Given the description of an element on the screen output the (x, y) to click on. 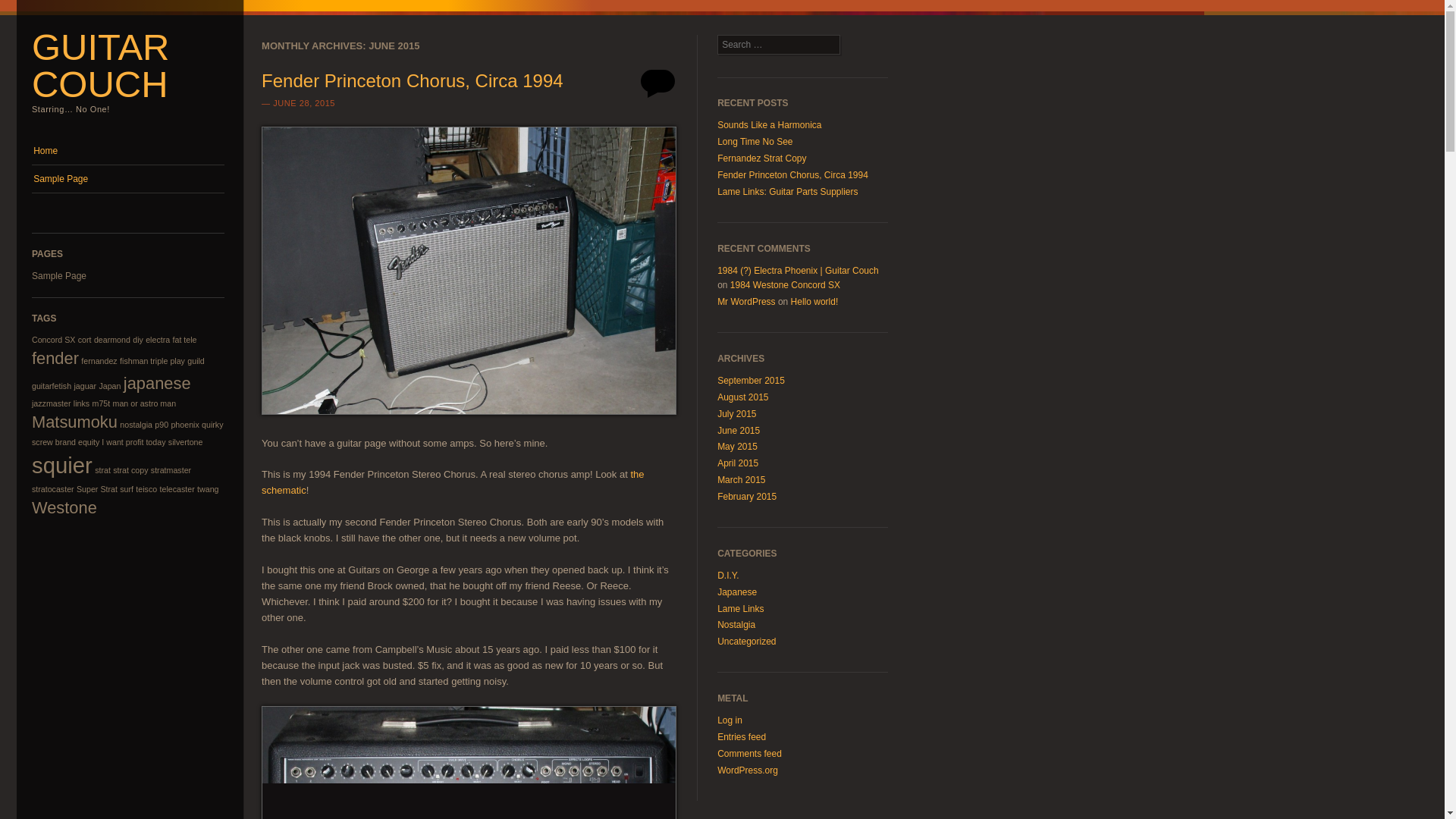
Concord SX (53, 338)
guild (196, 360)
p90 (161, 424)
man or astro man (144, 402)
teisco (146, 488)
telecaster (177, 488)
7:42 pm (303, 102)
Super Strat (97, 488)
Home (128, 150)
strat copy (130, 470)
